Given the description of an element on the screen output the (x, y) to click on. 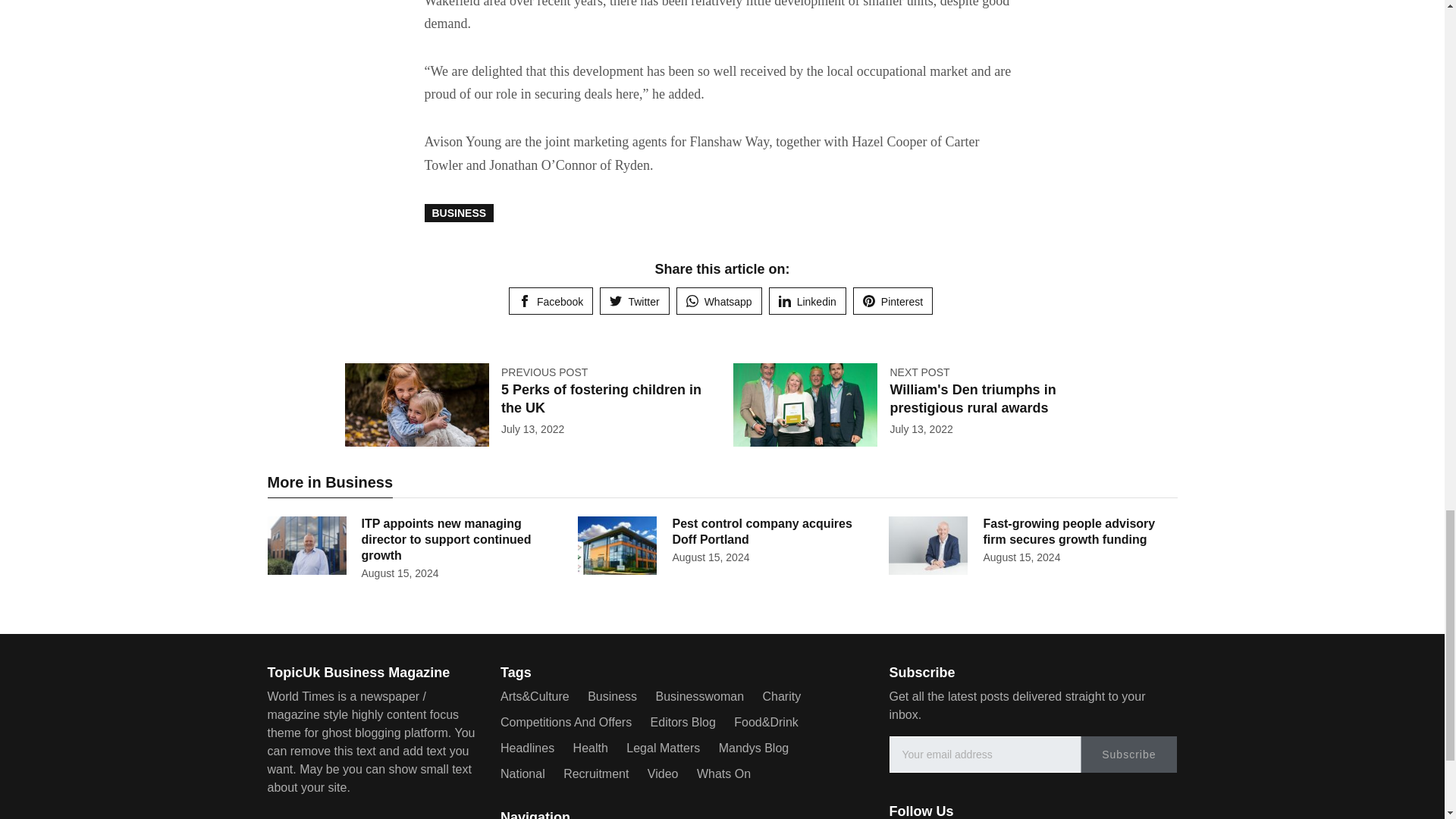
Share on Facebook (550, 300)
Twitter (633, 300)
5 Perks of fostering children in the UK (600, 398)
Pest control company acquires Doff Portland (761, 531)
Share on Whatsapp (719, 300)
Share on Linkedin (806, 300)
Facebook (550, 300)
15 August, 2024 (1020, 557)
13 July, 2022 (920, 428)
William's Den triumphs in prestigious rural awards (972, 398)
